Given the description of an element on the screen output the (x, y) to click on. 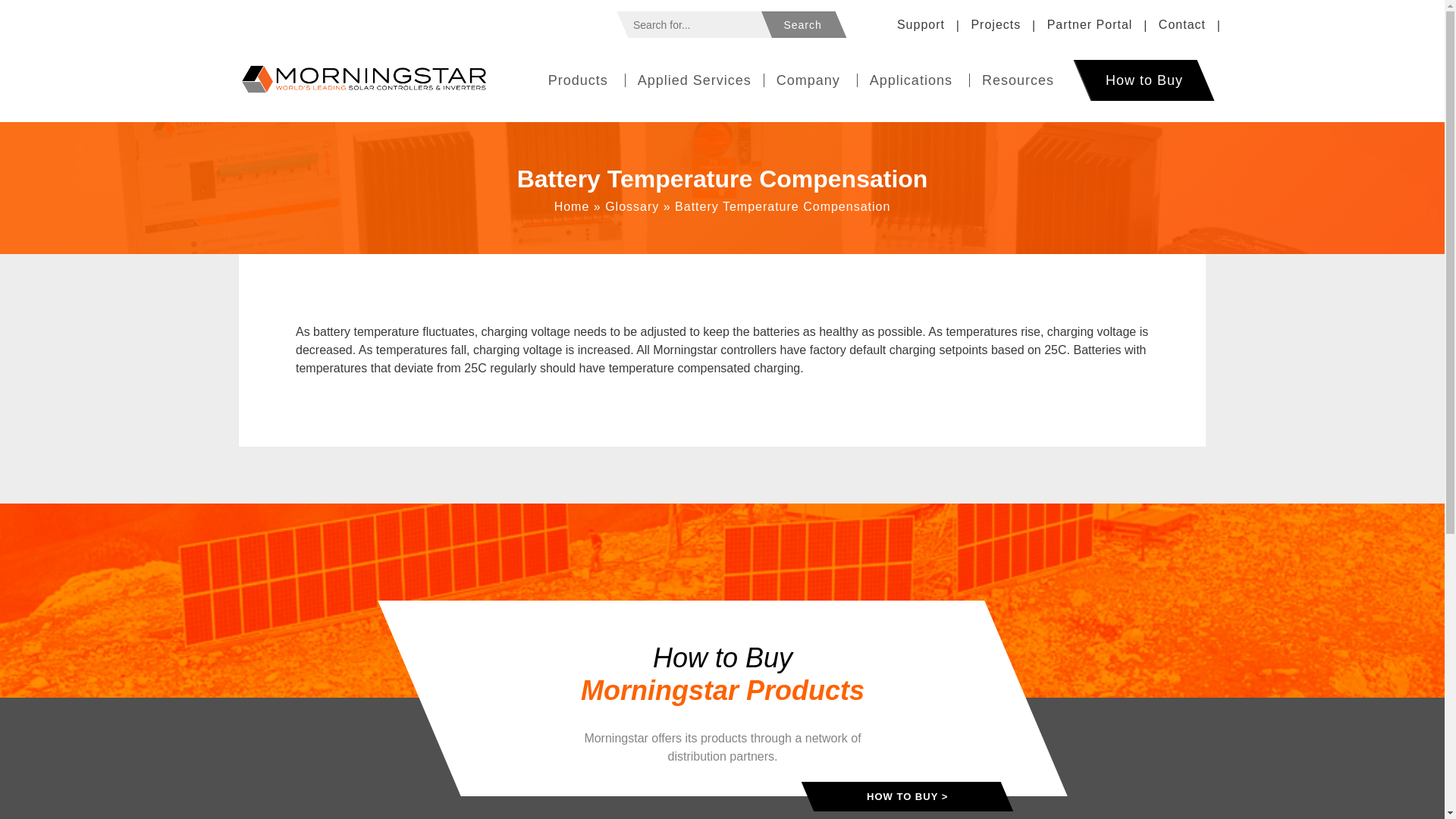
Projects (995, 24)
Support (920, 24)
Search for... (699, 24)
Search (801, 24)
Partner Portal (1089, 24)
Applied Services (694, 79)
Company (810, 79)
Contact (1181, 24)
Search (801, 24)
Search (801, 24)
